Given the description of an element on the screen output the (x, y) to click on. 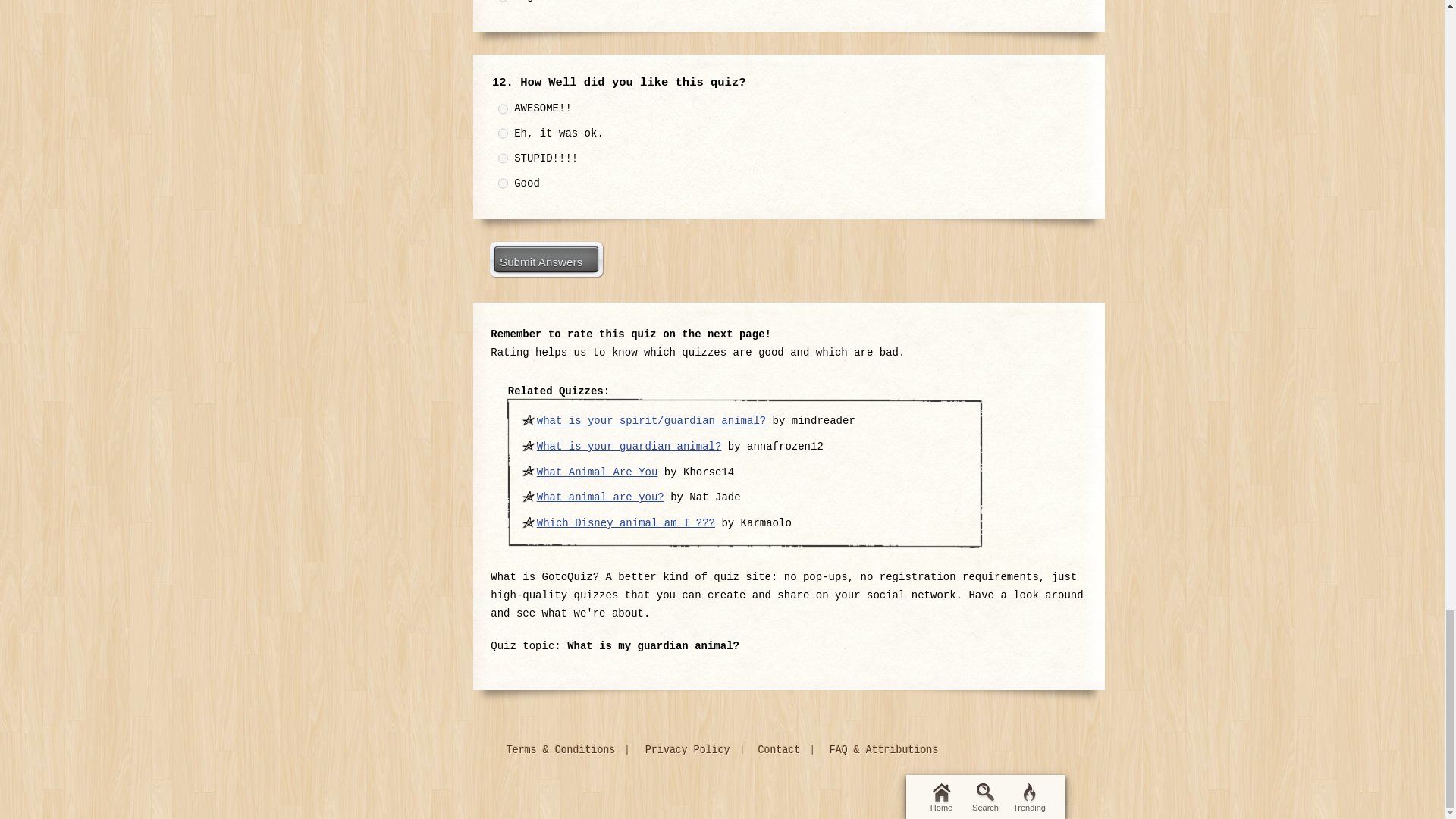
Privacy Policy (690, 750)
What Animal Are You (597, 472)
What animal are you? (600, 497)
What is your guardian animal? (629, 446)
Contact (780, 750)
Which Disney animal am I ??? (625, 522)
Submit Answers (545, 258)
